Given the description of an element on the screen output the (x, y) to click on. 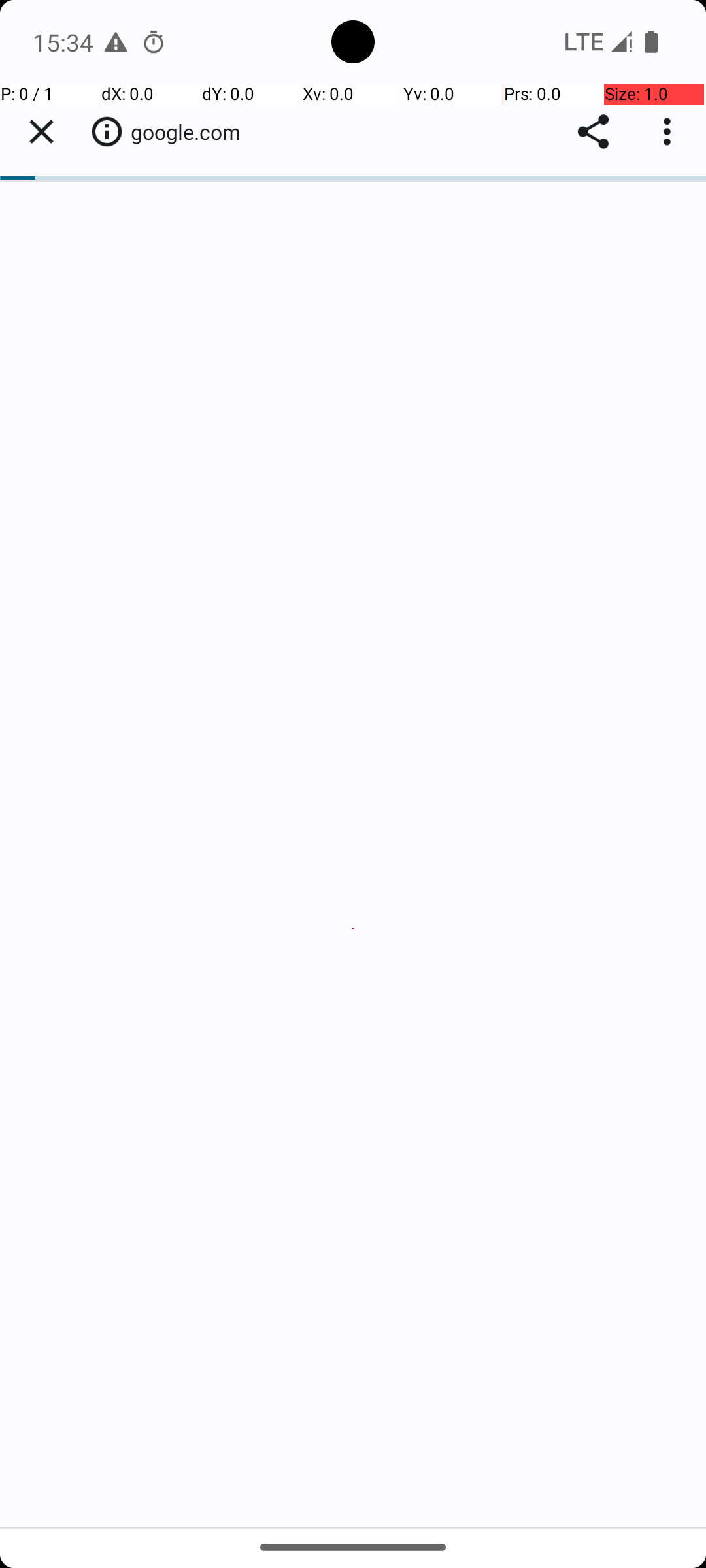
Web View Element type: android.widget.FrameLayout (353, 804)
Close tab Element type: android.widget.ImageButton (41, 131)
Your connection to this site is not secure Element type: android.widget.ImageButton (106, 131)
Share Element type: android.widget.ImageButton (593, 131)
google.com Element type: android.widget.TextView (192, 131)
